Given the description of an element on the screen output the (x, y) to click on. 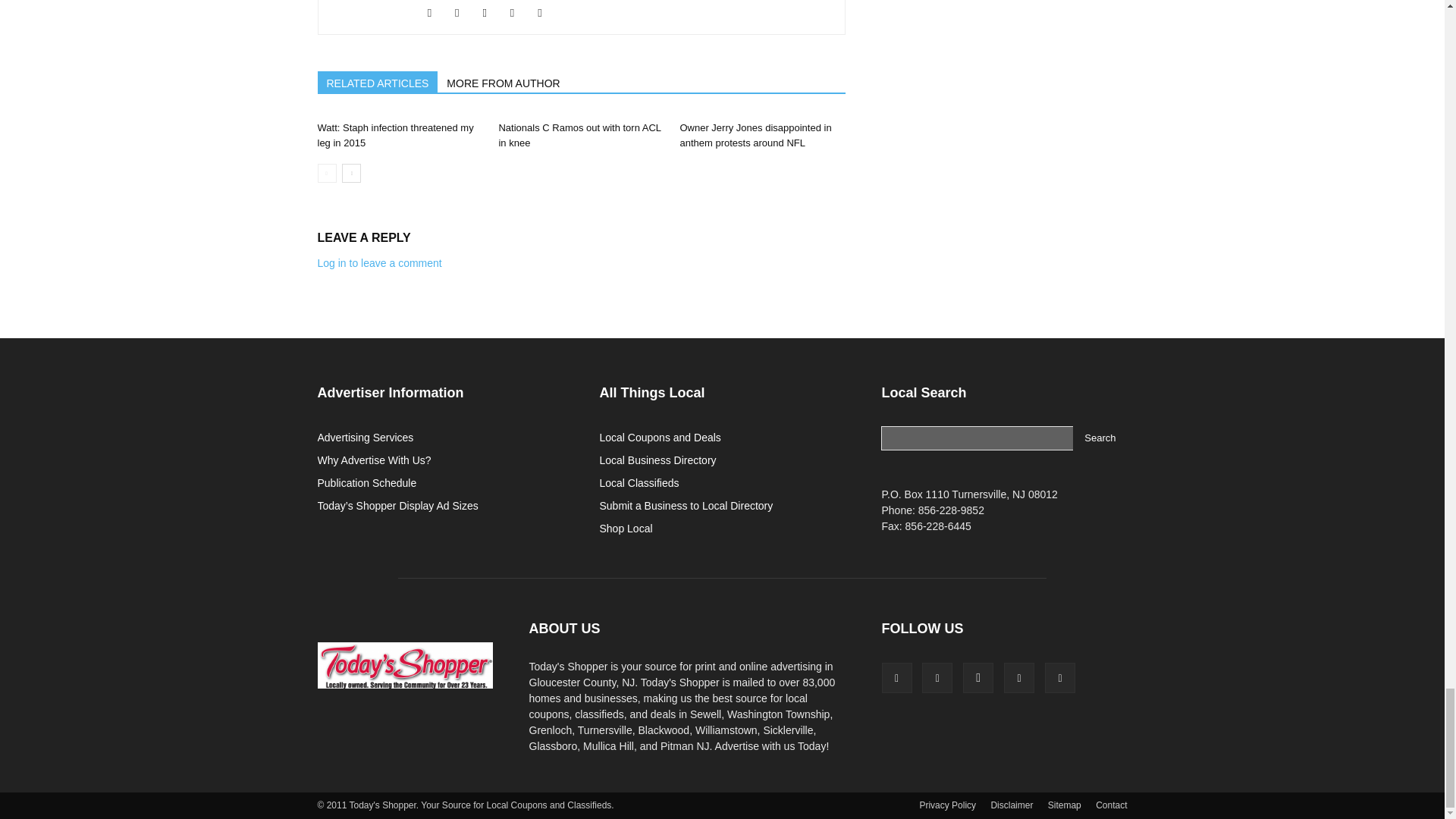
Search (1099, 437)
Facebook (435, 13)
